Given the description of an element on the screen output the (x, y) to click on. 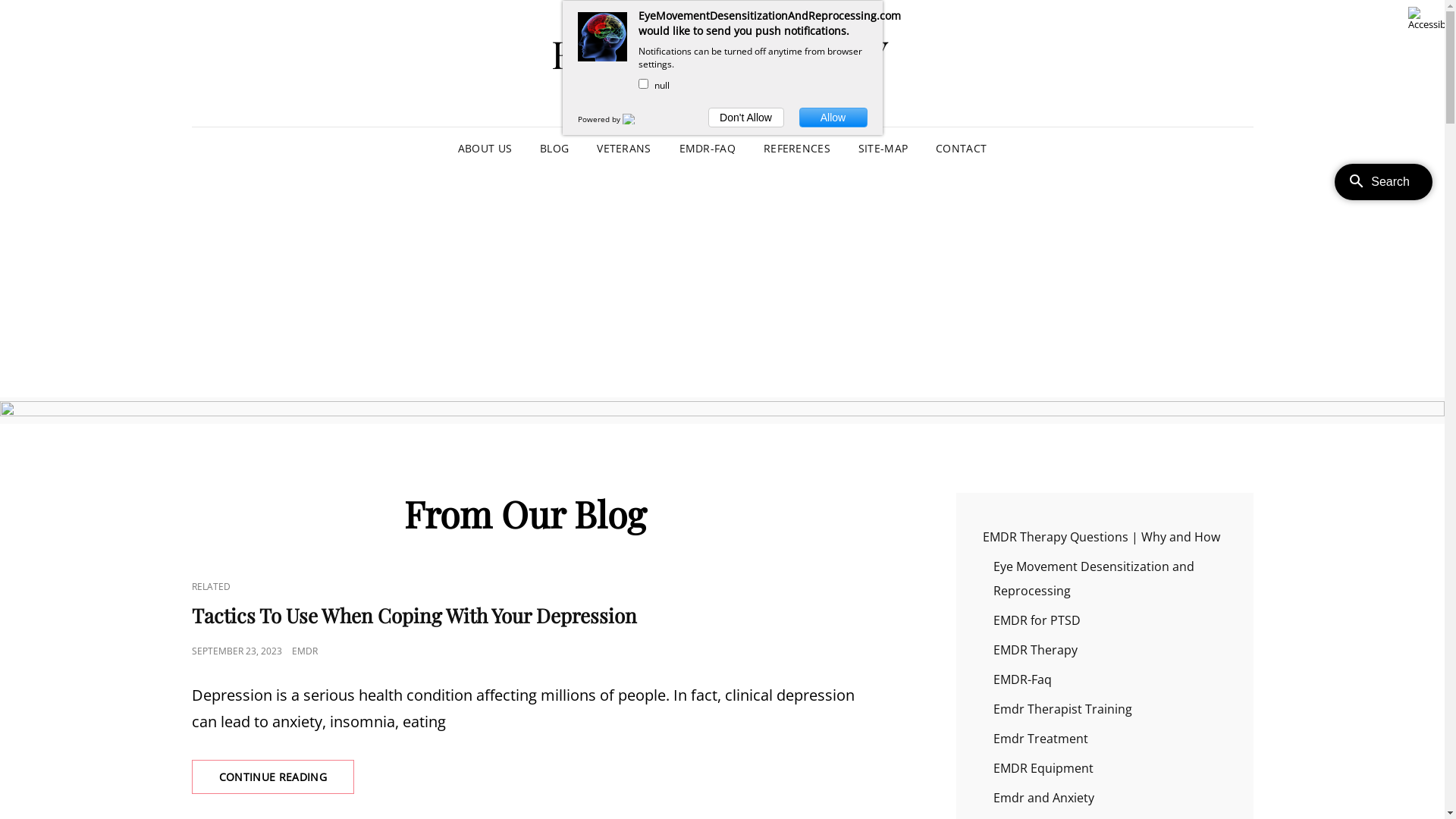
EMDR-FAQ Element type: text (707, 148)
EMDR for PTSD Element type: text (1036, 619)
REFERENCES Element type: text (796, 148)
Eye Movement Desensitization and Reprocessing Element type: text (1093, 578)
EMDR-Faq Element type: text (1022, 678)
Advertisement Element type: hover (721, 284)
EMDR Element type: text (303, 650)
Allow Element type: text (833, 117)
CONTACT Element type: text (960, 148)
VETERANS Element type: text (623, 148)
Don't Allow Element type: text (746, 117)
EMDR THERAPY Element type: text (722, 53)
Powered by Element type: text (599, 118)
BLOG Element type: text (553, 148)
RELATED Element type: text (210, 586)
ABOUT US Element type: text (484, 148)
Emdr and Anxiety Element type: text (1043, 796)
Emdr Treatment Element type: text (1040, 737)
SEPTEMBER 23, 2023 Element type: text (236, 650)
SITE-MAP Element type: text (882, 148)
EMDR Therapy Element type: text (1035, 649)
Emdr Therapist Training Element type: text (1062, 708)
EMDR Equipment Element type: text (1043, 767)
Tactics To Use When Coping With Your Depression Element type: text (413, 615)
EMDR Therapy Questions | Why and How Element type: text (1101, 535)
Accessibility Helper sidebar Element type: hover (1426, 18)
